Given the description of an element on the screen output the (x, y) to click on. 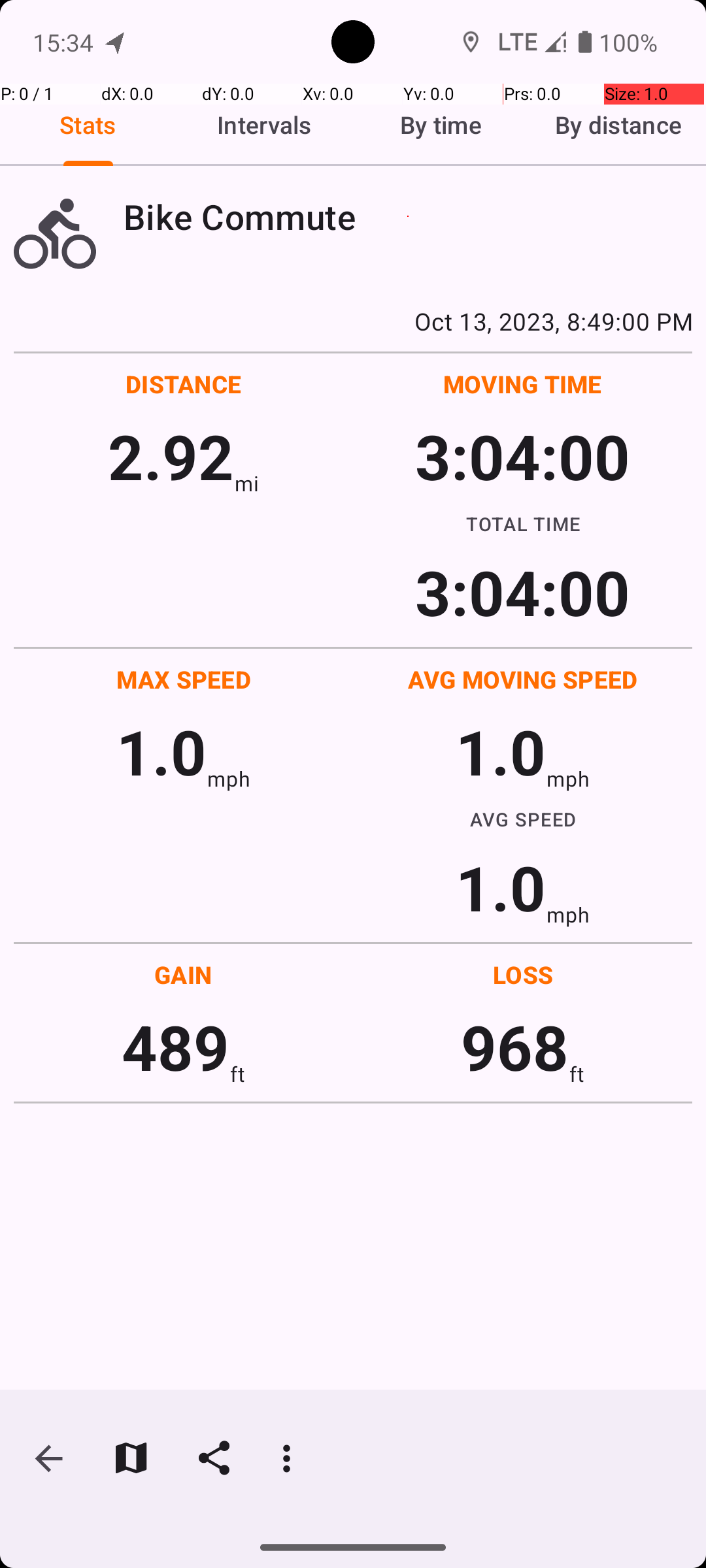
Bike Commute Element type: android.widget.TextView (407, 216)
Oct 13, 2023, 8:49:00 PM Element type: android.widget.TextView (352, 320)
2.92 Element type: android.widget.TextView (170, 455)
3:04:00 Element type: android.widget.TextView (522, 455)
1.0 Element type: android.widget.TextView (161, 750)
489 Element type: android.widget.TextView (175, 1045)
968 Element type: android.widget.TextView (514, 1045)
OpenTracks notification:  Element type: android.widget.ImageView (115, 41)
